Given the description of an element on the screen output the (x, y) to click on. 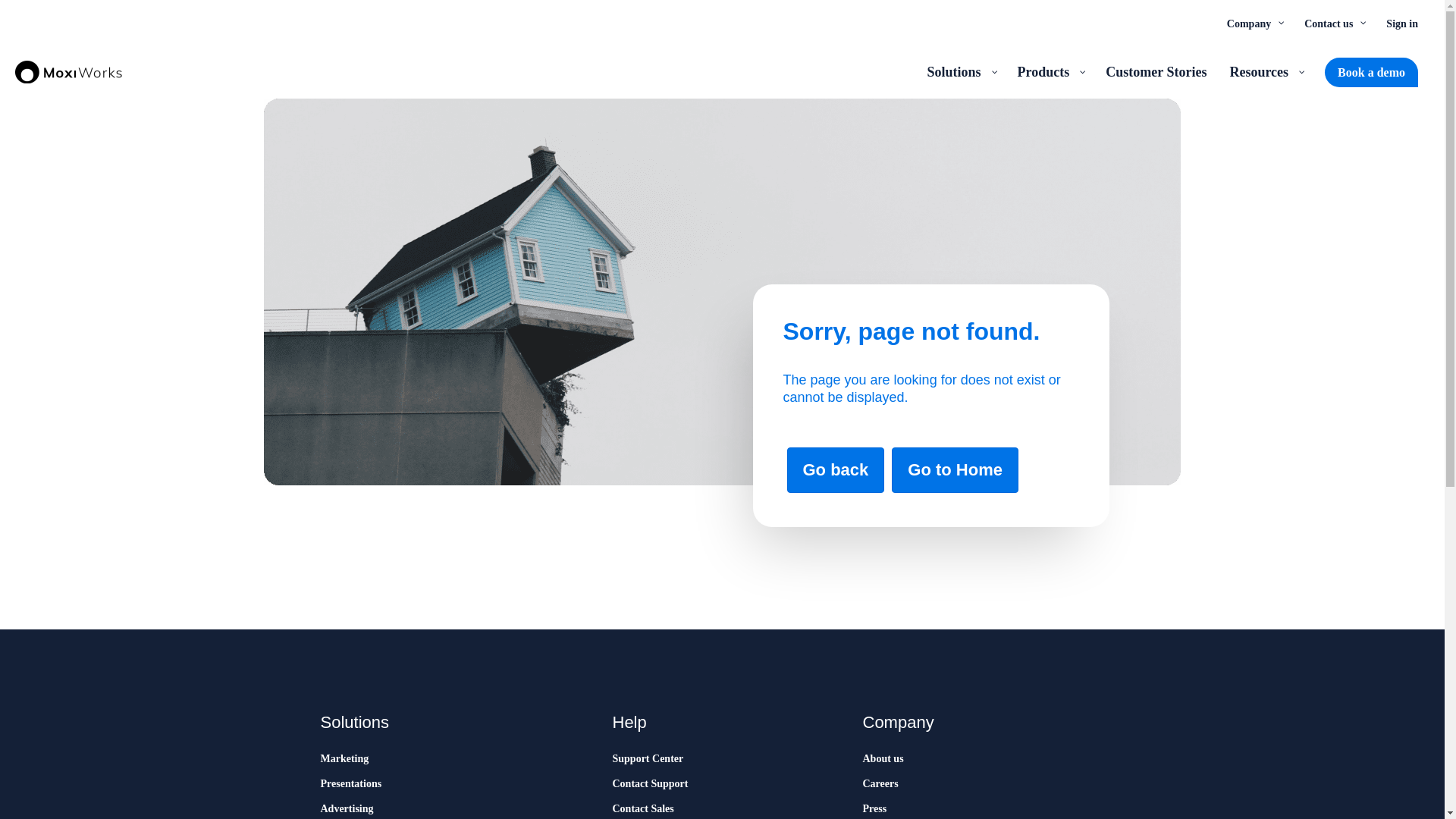
Solutions (960, 72)
Contact us (1333, 22)
Sign in (1401, 22)
Company (1253, 22)
Products (1050, 72)
